Given the description of an element on the screen output the (x, y) to click on. 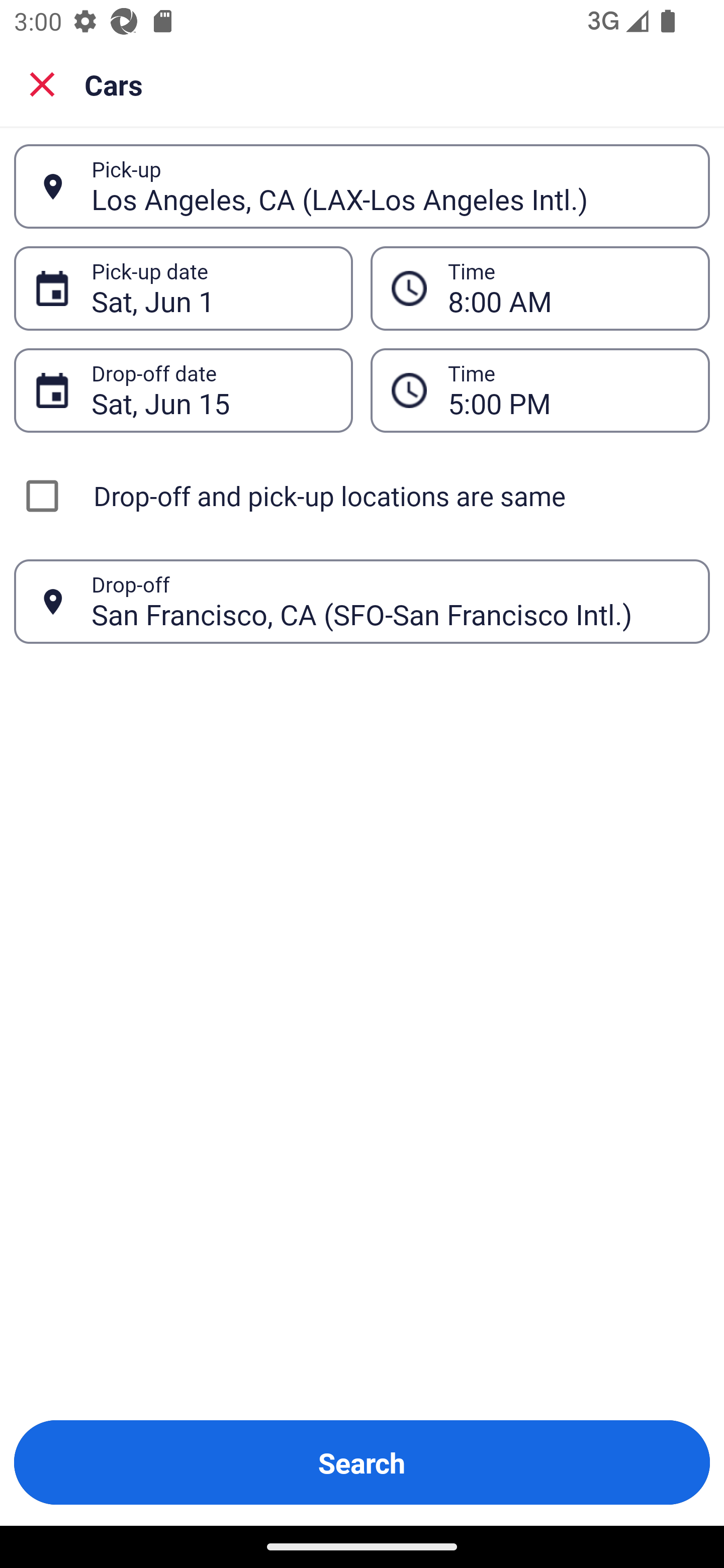
Close search screen (41, 83)
Los Angeles, CA (LAX-Los Angeles Intl.) Pick-up (361, 186)
Los Angeles, CA (LAX-Los Angeles Intl.) (389, 186)
Sat, Jun 1 Pick-up date (183, 288)
8:00 AM (540, 288)
Sat, Jun 1 (211, 288)
8:00 AM (568, 288)
Sat, Jun 15 Drop-off date (183, 390)
5:00 PM (540, 390)
Sat, Jun 15 (211, 390)
5:00 PM (568, 390)
Drop-off and pick-up locations are same (361, 495)
San Francisco, CA (SFO-San Francisco Intl.) (389, 601)
Search Button Search (361, 1462)
